Given the description of an element on the screen output the (x, y) to click on. 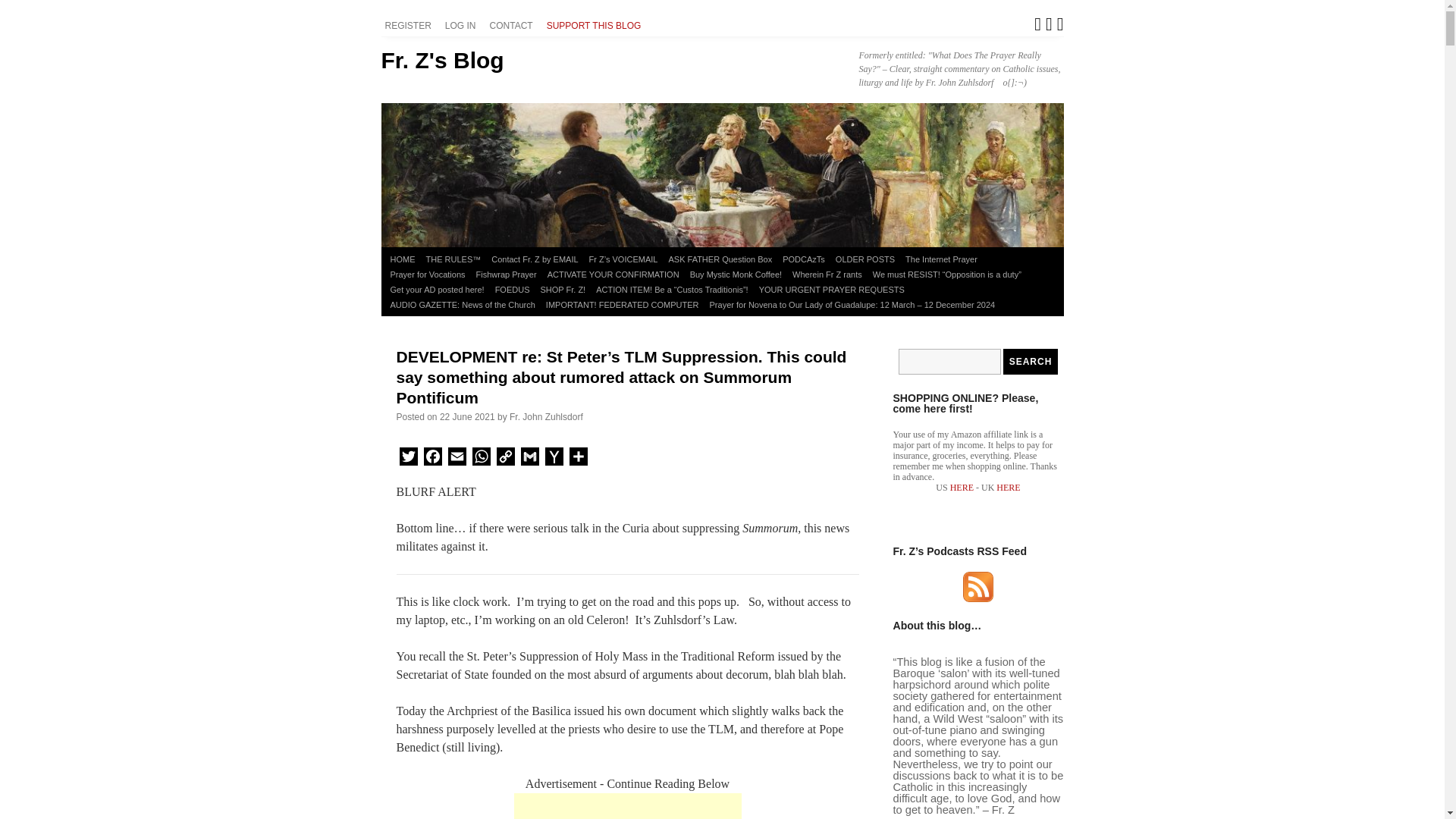
Buy Mystic Monk Coffee! (735, 273)
Fr. John Zuhlsdorf (546, 416)
Prayer for Vocations (427, 273)
Fishwrap Prayer (505, 273)
AUDIO GAZETTE: News of the Church (462, 304)
Facebook (432, 458)
IMPORTANT! FEDERATED COMPUTER (622, 304)
FOEDUS (512, 289)
SUPPORT THIS BLOG (596, 25)
Get your AD posted here! (437, 289)
Fr. Z's Blog (441, 59)
OLDER POSTS (864, 258)
Fr. Z's Blog (441, 59)
ACTIVATE YOUR CONFIRMATION (612, 273)
The Internet Prayer (940, 258)
